Given the description of an element on the screen output the (x, y) to click on. 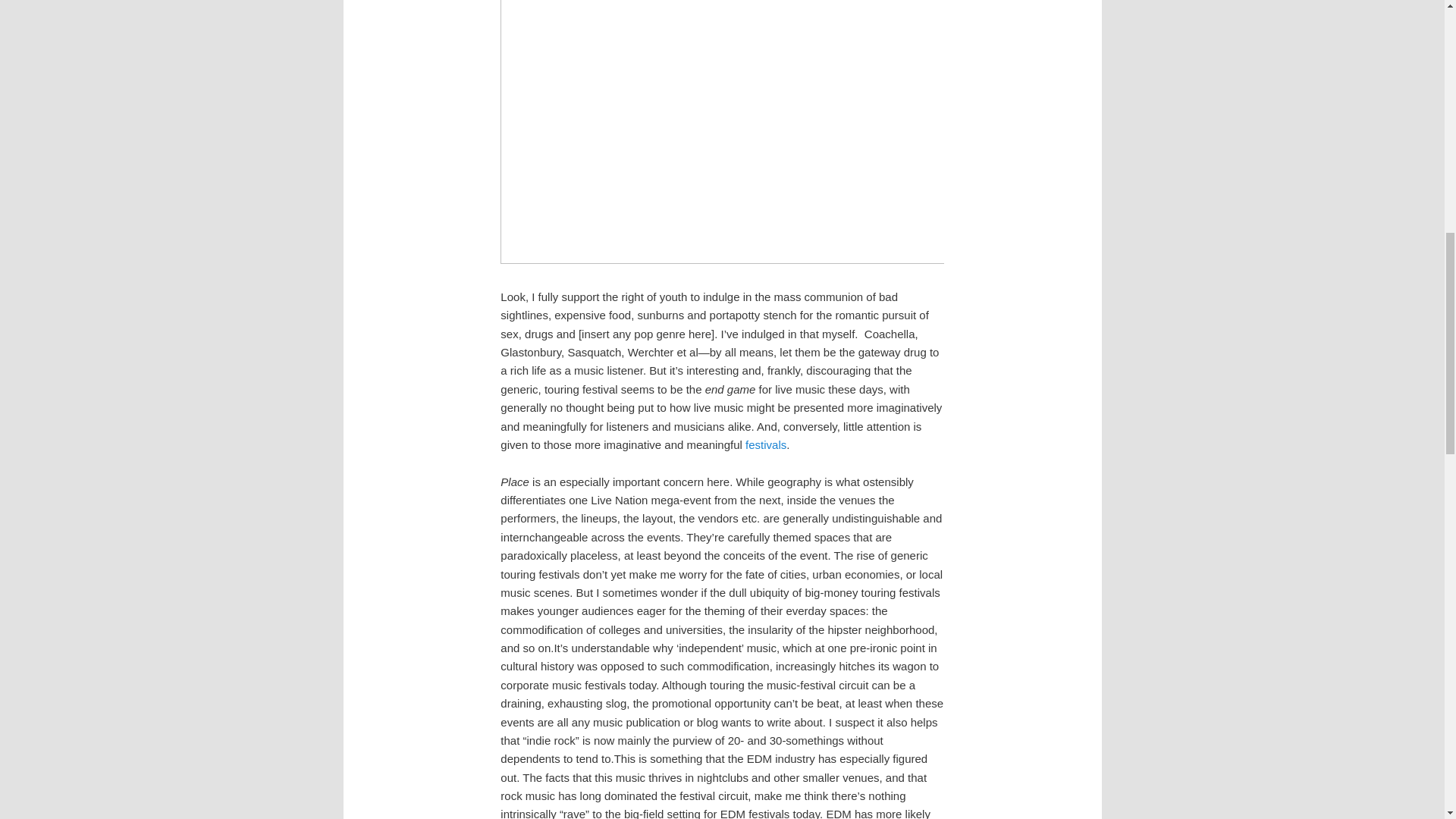
festivals (765, 444)
